Given the description of an element on the screen output the (x, y) to click on. 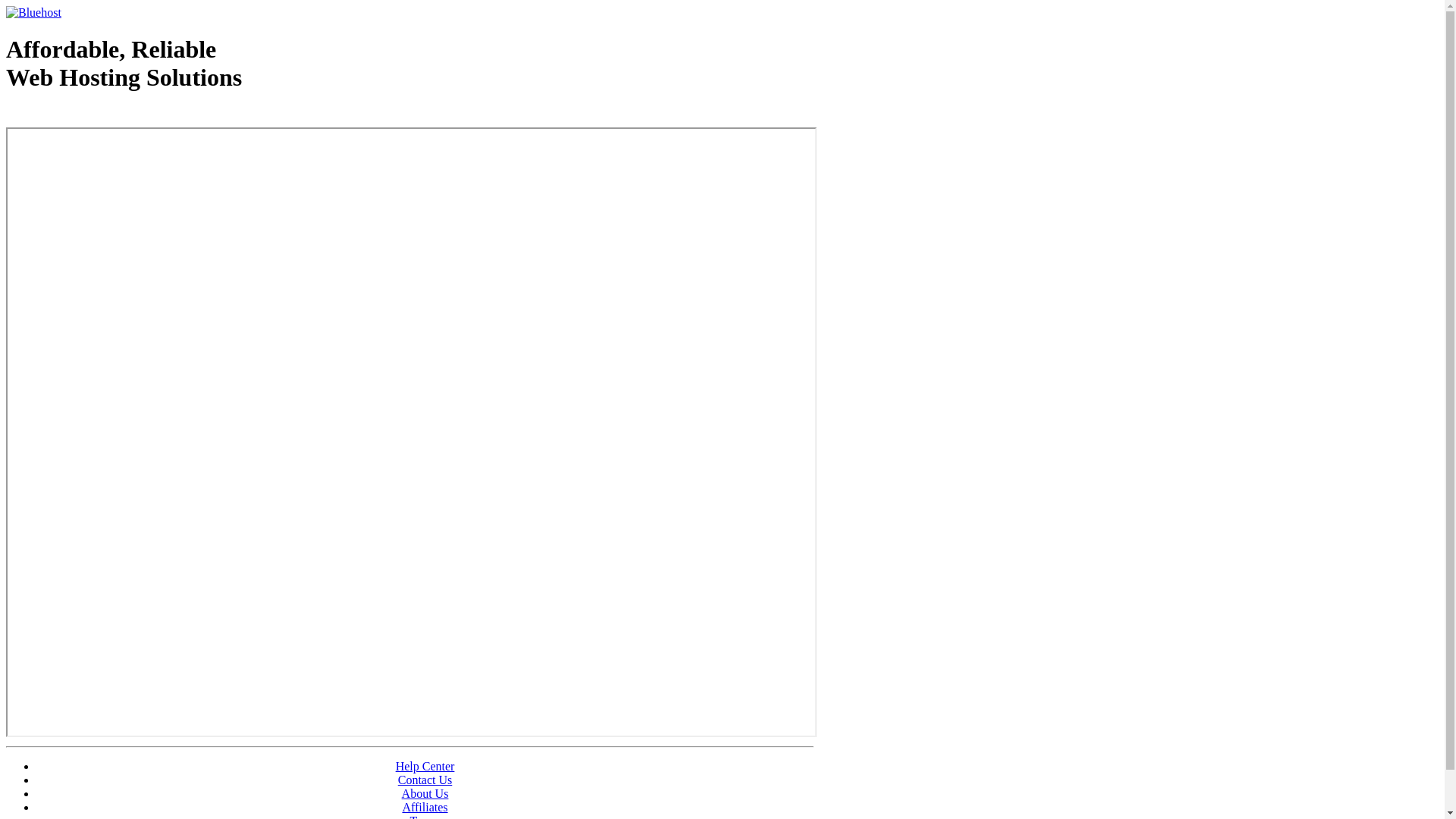
Help Center Element type: text (425, 765)
Affiliates Element type: text (424, 806)
Web Hosting - courtesy of www.bluehost.com Element type: text (94, 115)
Contact Us Element type: text (425, 779)
About Us Element type: text (424, 793)
